Given the description of an element on the screen output the (x, y) to click on. 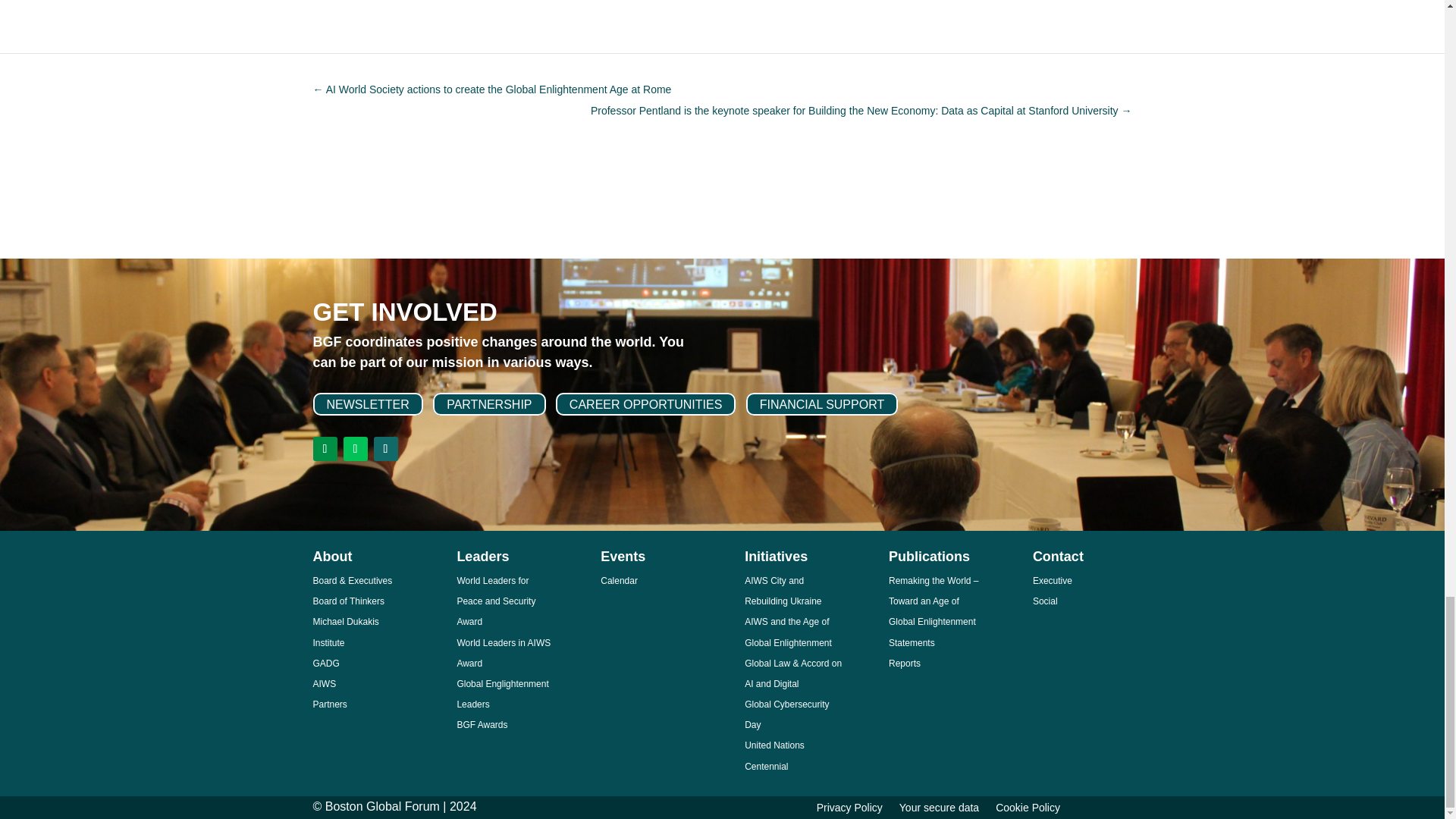
Follow on Facebook (384, 448)
Follow on Twitter (354, 448)
Follow on LinkedIn (324, 448)
